Given the description of an element on the screen output the (x, y) to click on. 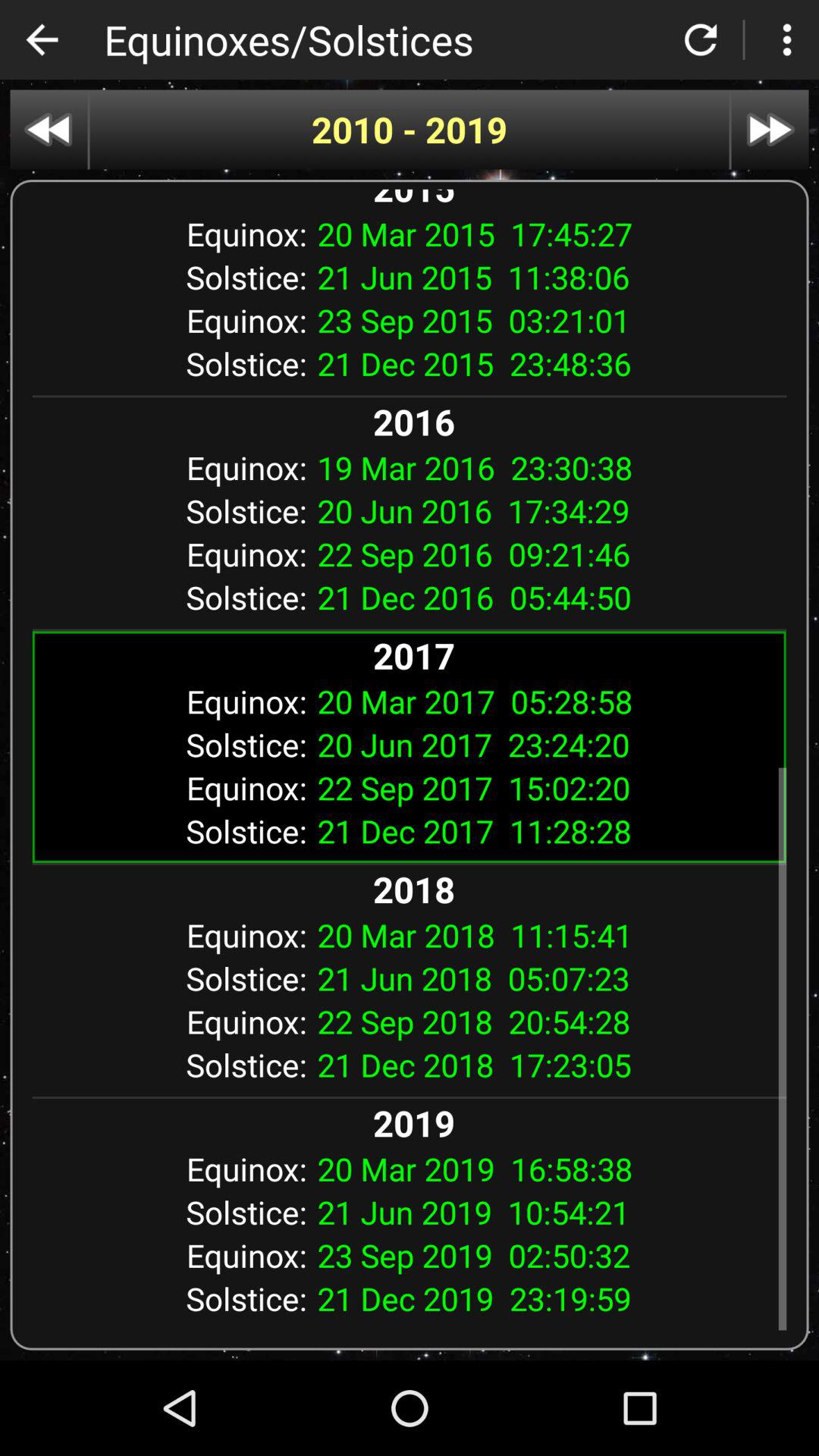
launch the item to the left of the equinoxes/solstices (41, 39)
